Given the description of an element on the screen output the (x, y) to click on. 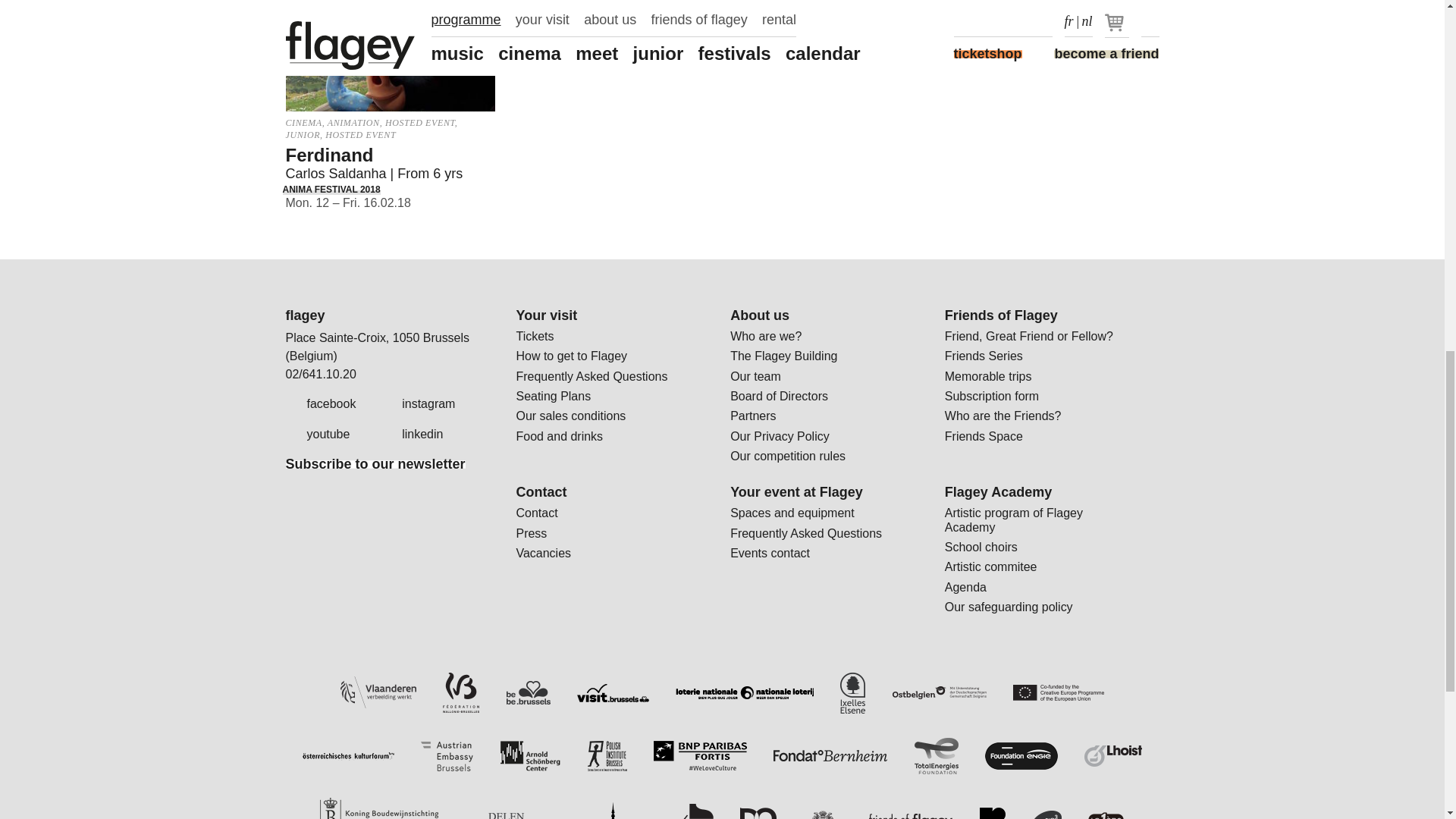
Ostbelgien (939, 692)
BNP Paribas - Fortis (699, 755)
Vlaanderen verbeelding werkt (378, 692)
Austrian Cultural Forum in Brussels (348, 755)
Creative European Programme (1058, 692)
bernheim (829, 755)
Loterie nationale - Nationale loterij (744, 692)
Foundation Engie (1021, 755)
Polish Institute Brussels (607, 756)
TotalEnergies Foundation (936, 755)
